Given the description of an element on the screen output the (x, y) to click on. 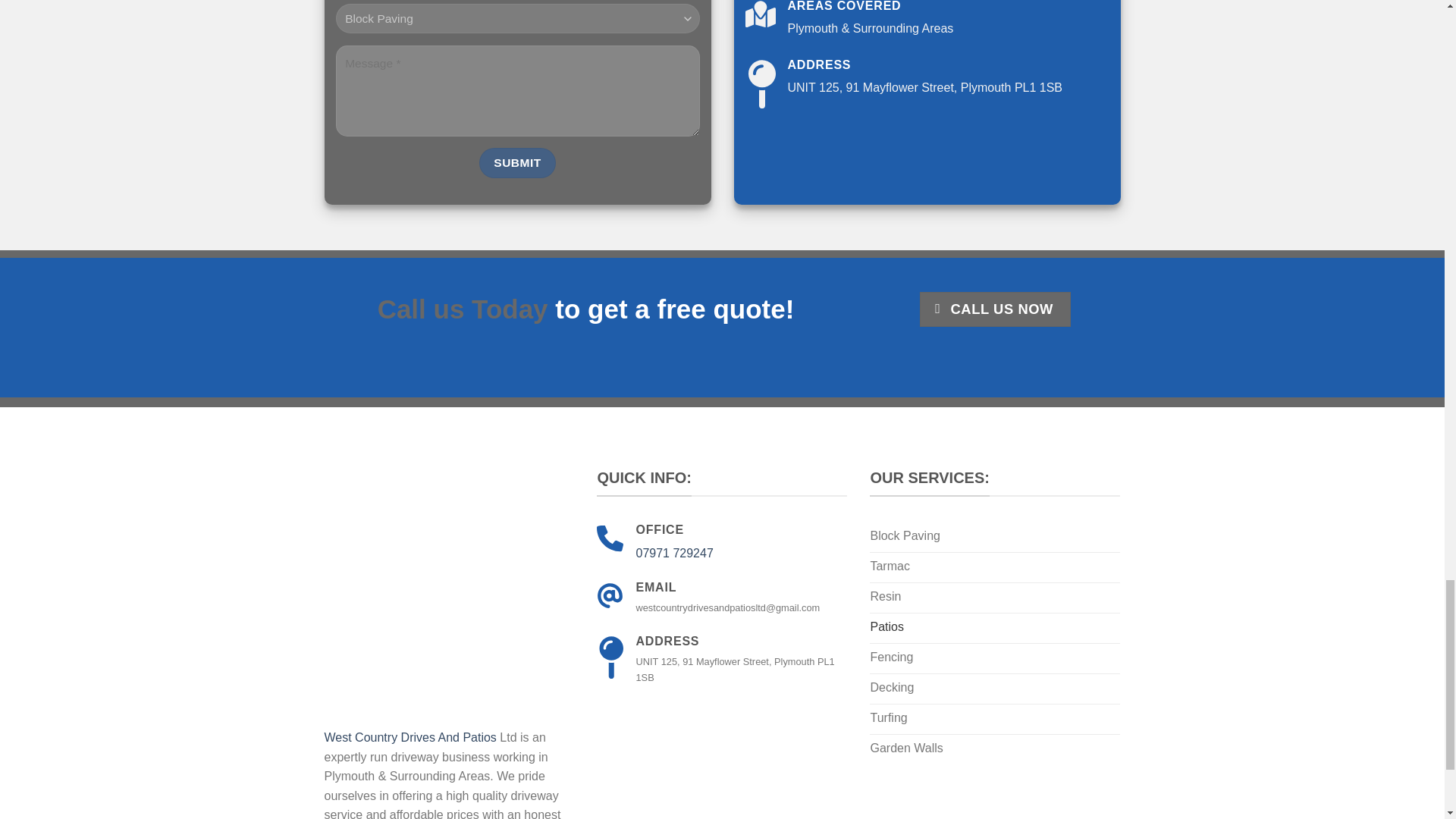
Submit (517, 162)
Submit (517, 162)
CALL US NOW (995, 308)
